Given the description of an element on the screen output the (x, y) to click on. 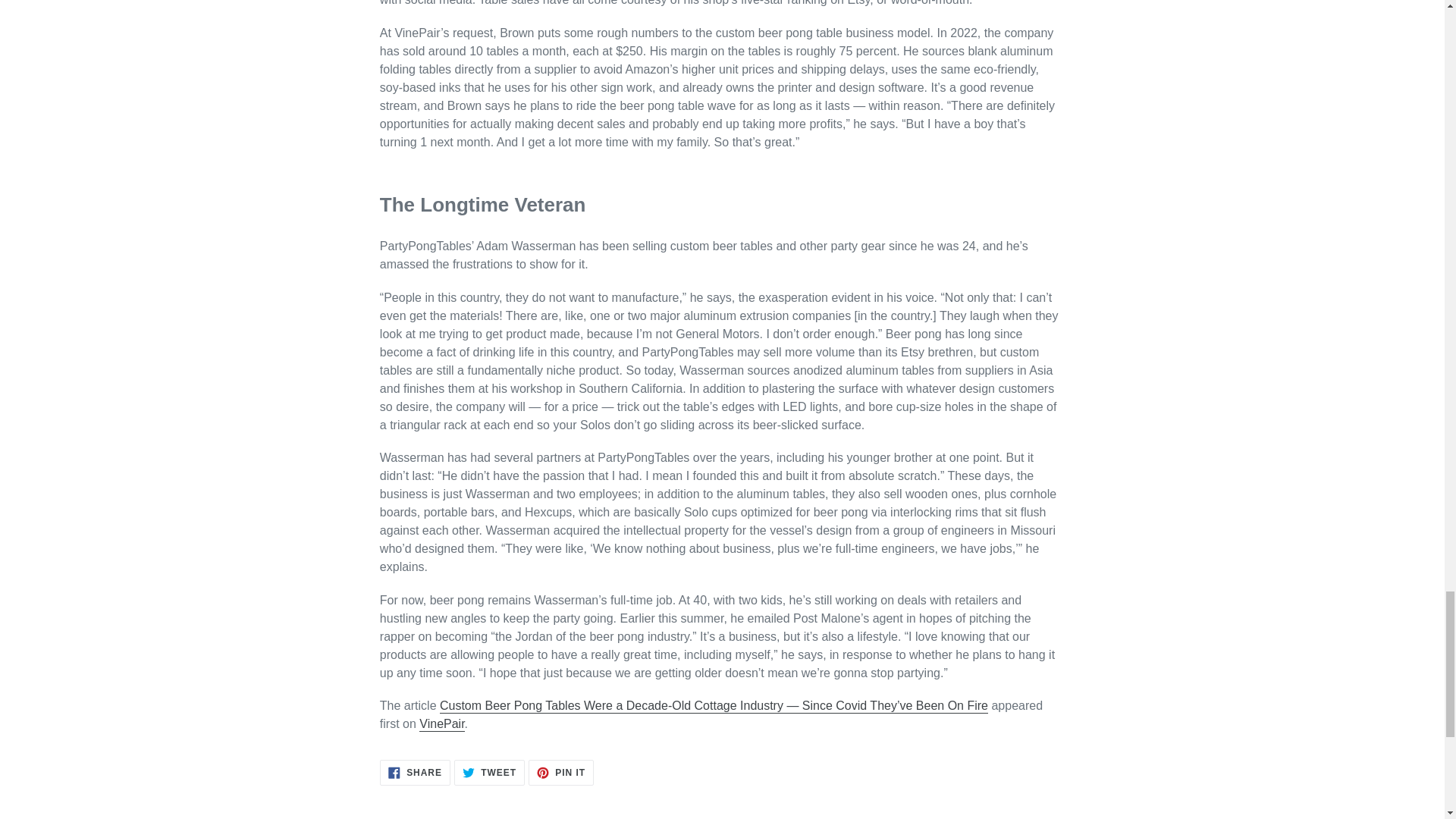
VinePair (561, 772)
